Given the description of an element on the screen output the (x, y) to click on. 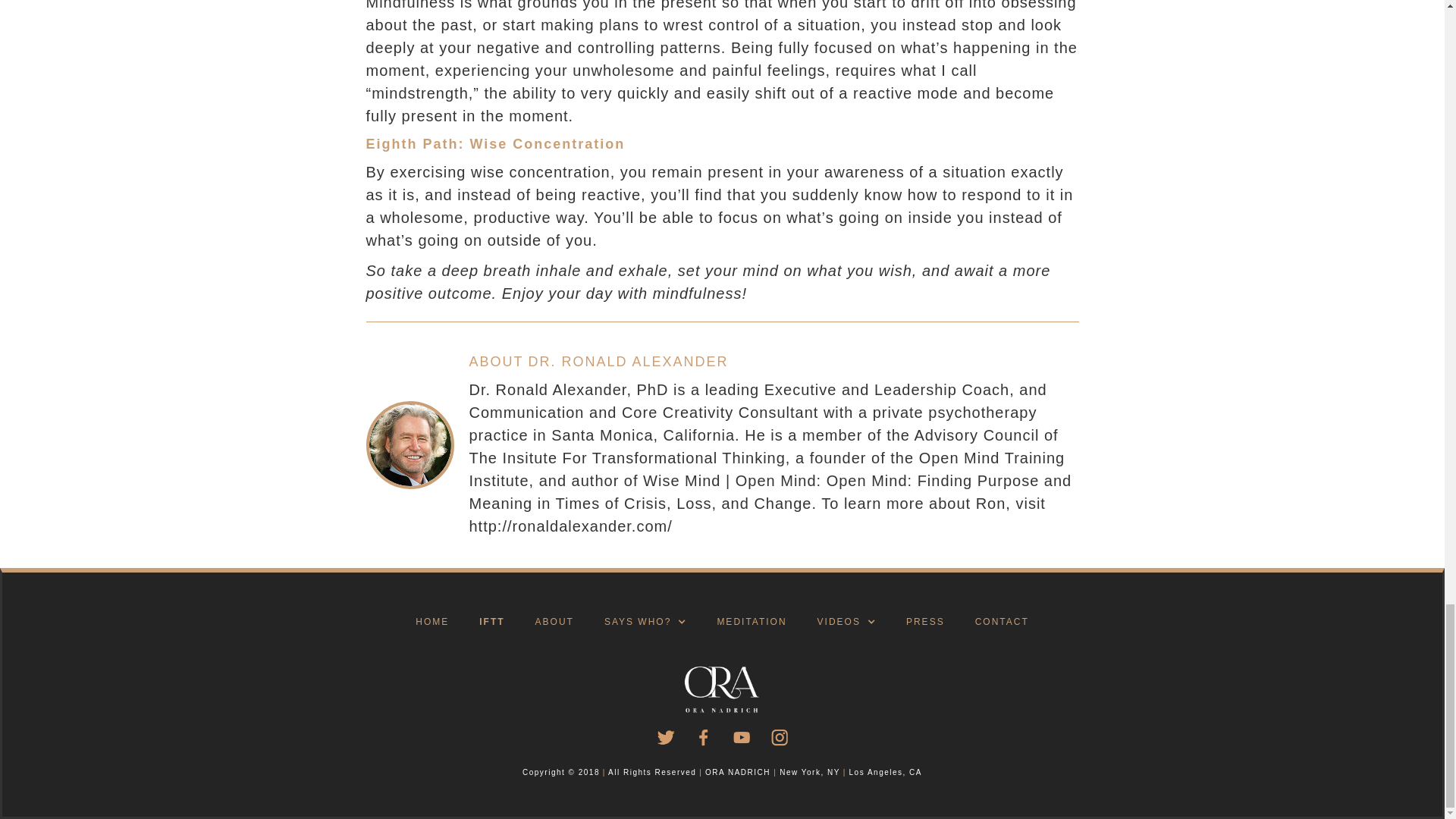
MEDITATION (751, 622)
ABOUT (554, 622)
IFTT (491, 622)
PRESS (925, 622)
HOME (432, 622)
